Given the description of an element on the screen output the (x, y) to click on. 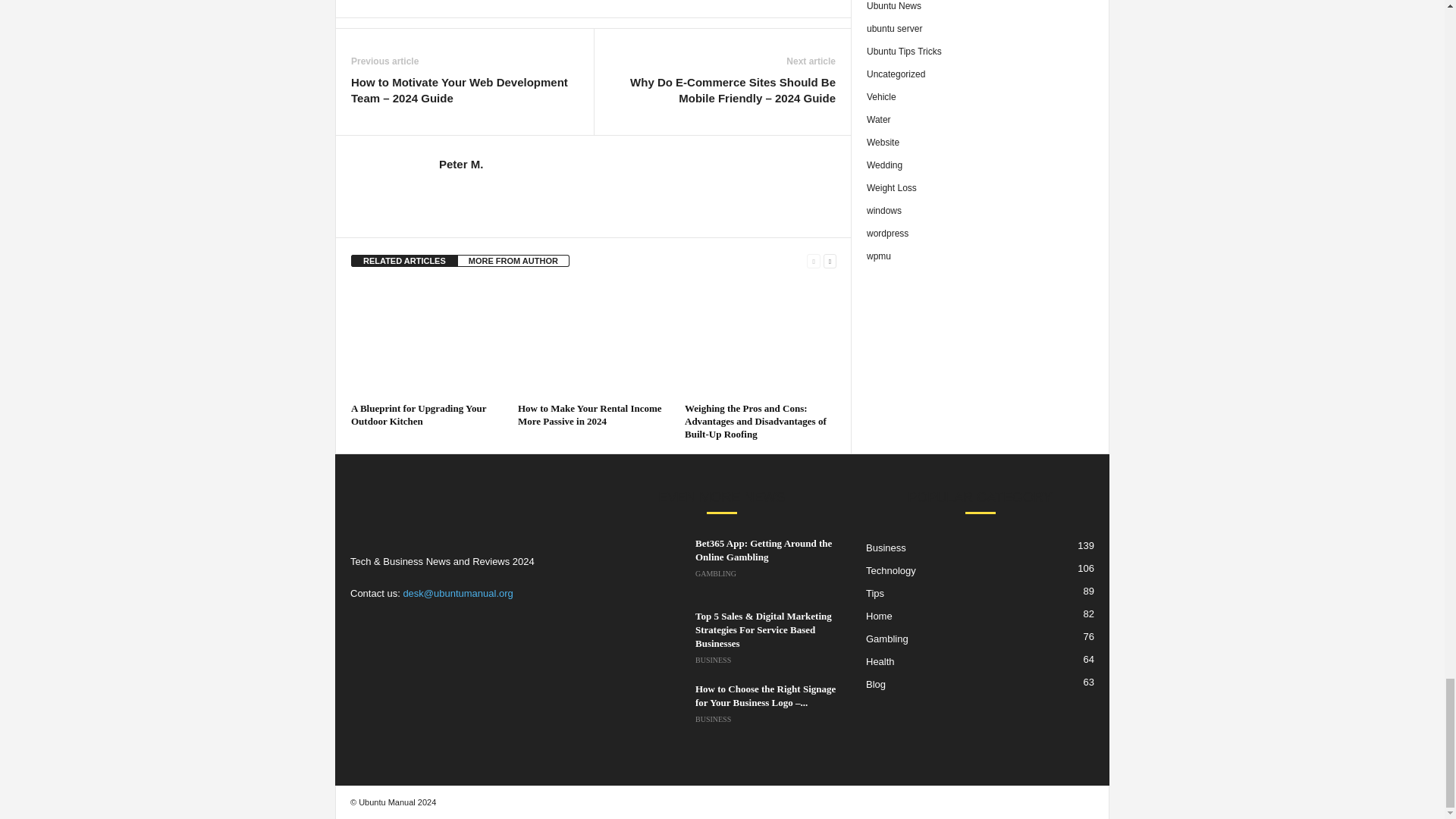
How to Make Your Rental Income More Passive in 2024 (590, 414)
How to Make Your Rental Income More Passive in 2024 (593, 340)
A Blueprint for Upgrading Your Outdoor Kitchen (418, 414)
A Blueprint for Upgrading Your Outdoor Kitchen (426, 340)
